Given the description of an element on the screen output the (x, y) to click on. 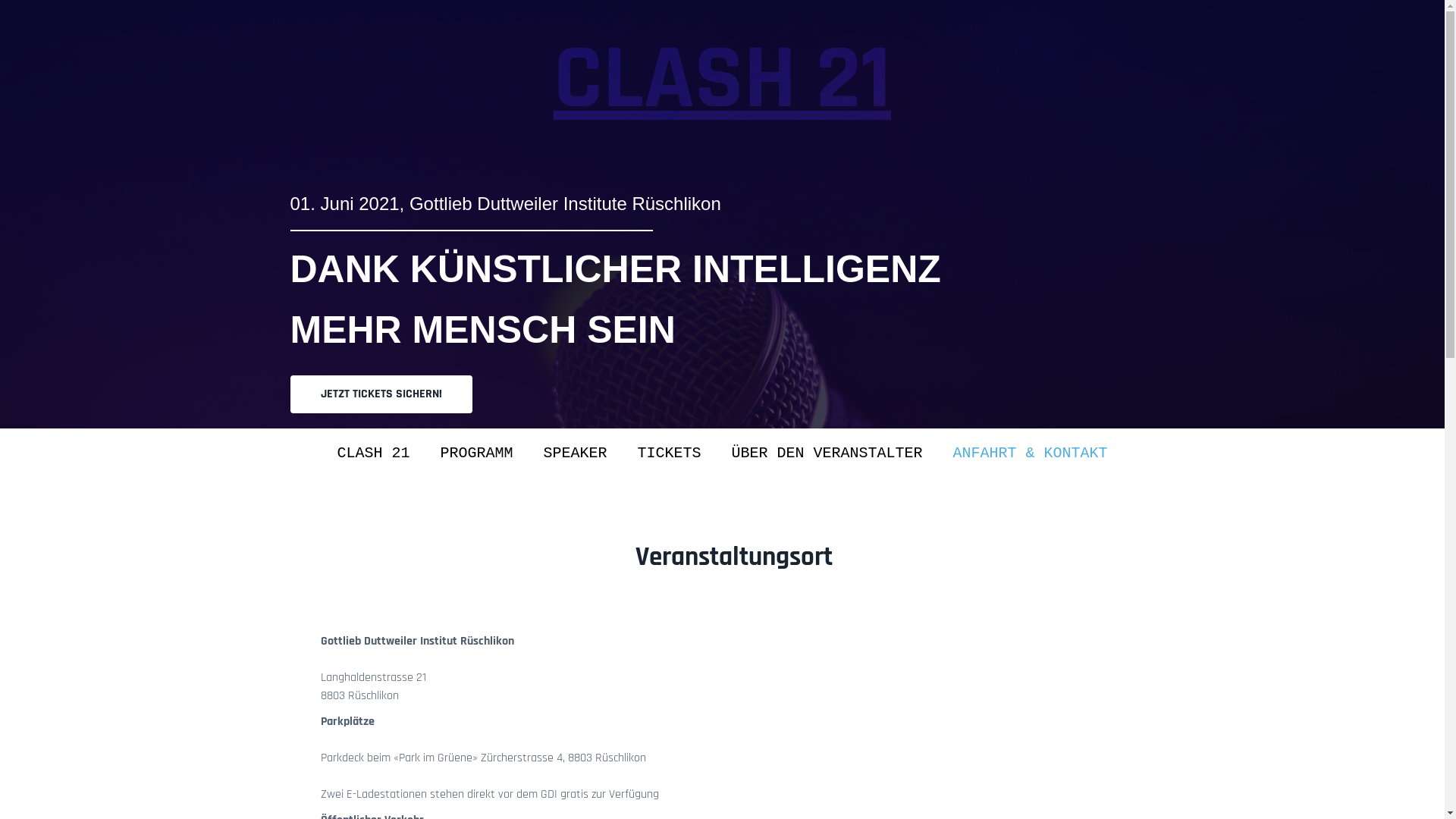
SPEAKER Element type: text (574, 453)
JETZT TICKETS SICHERN! Element type: text (380, 394)
ANFAHRT & KONTAKT Element type: text (1030, 453)
PROGRAMM Element type: text (475, 453)
TICKETS Element type: text (668, 453)
CLASH 21 Element type: text (372, 453)
